Given the description of an element on the screen output the (x, y) to click on. 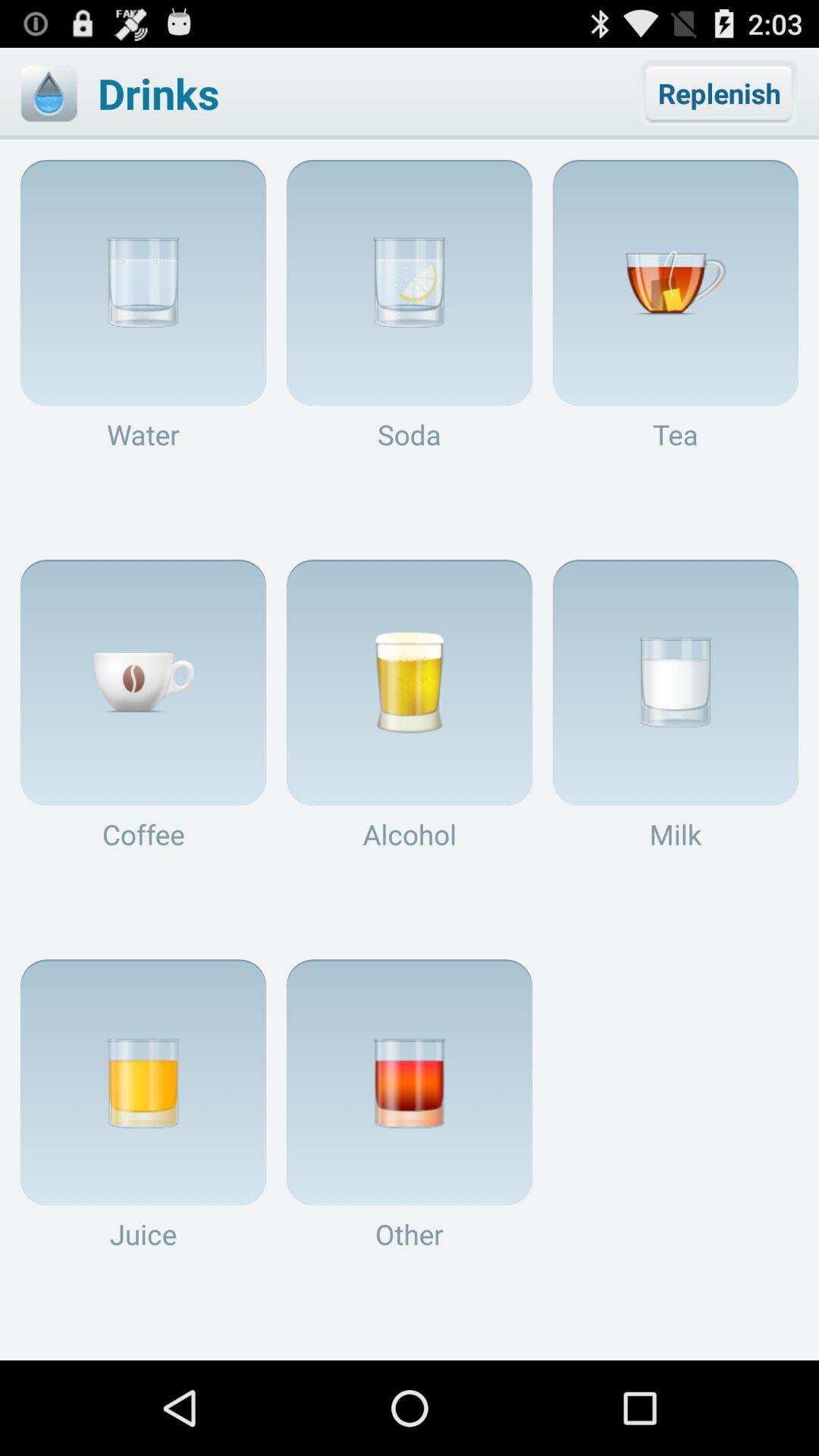
click the item to the right of the drinks app (719, 92)
